Given the description of an element on the screen output the (x, y) to click on. 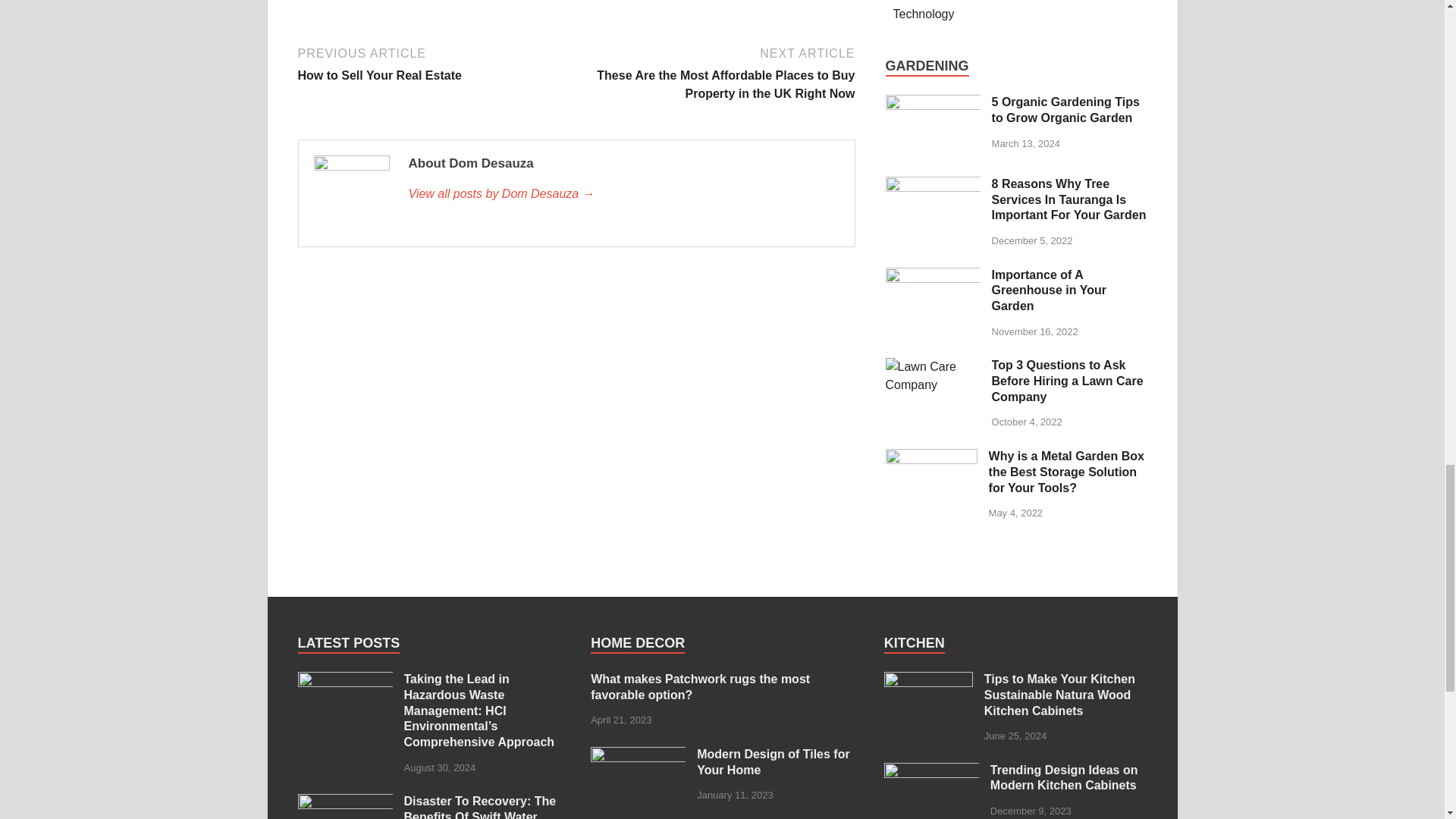
Dom Desauza (434, 63)
5 Organic Gardening Tips to Grow Organic Garden (622, 194)
